Given the description of an element on the screen output the (x, y) to click on. 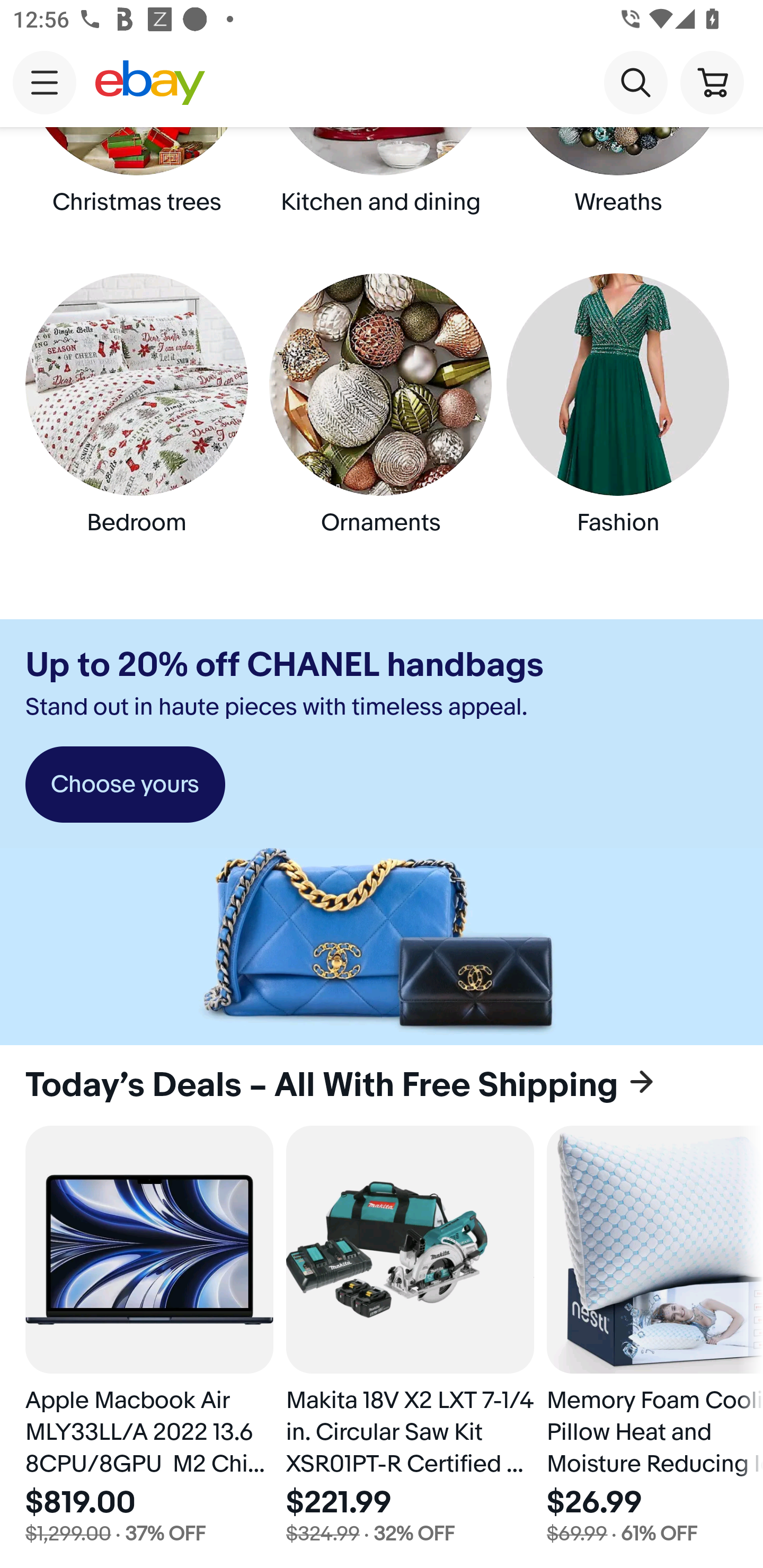
Main navigation, open (44, 82)
Search (635, 81)
Cart button shopping cart (711, 81)
Bedroom (140, 419)
Ornaments (381, 419)
Fashion (621, 419)
Up to 20% off CHANEL handbags (284, 665)
Choose yours (125, 784)
Today’s Deals – All With Free Shipping   (381, 1085)
